Given the description of an element on the screen output the (x, y) to click on. 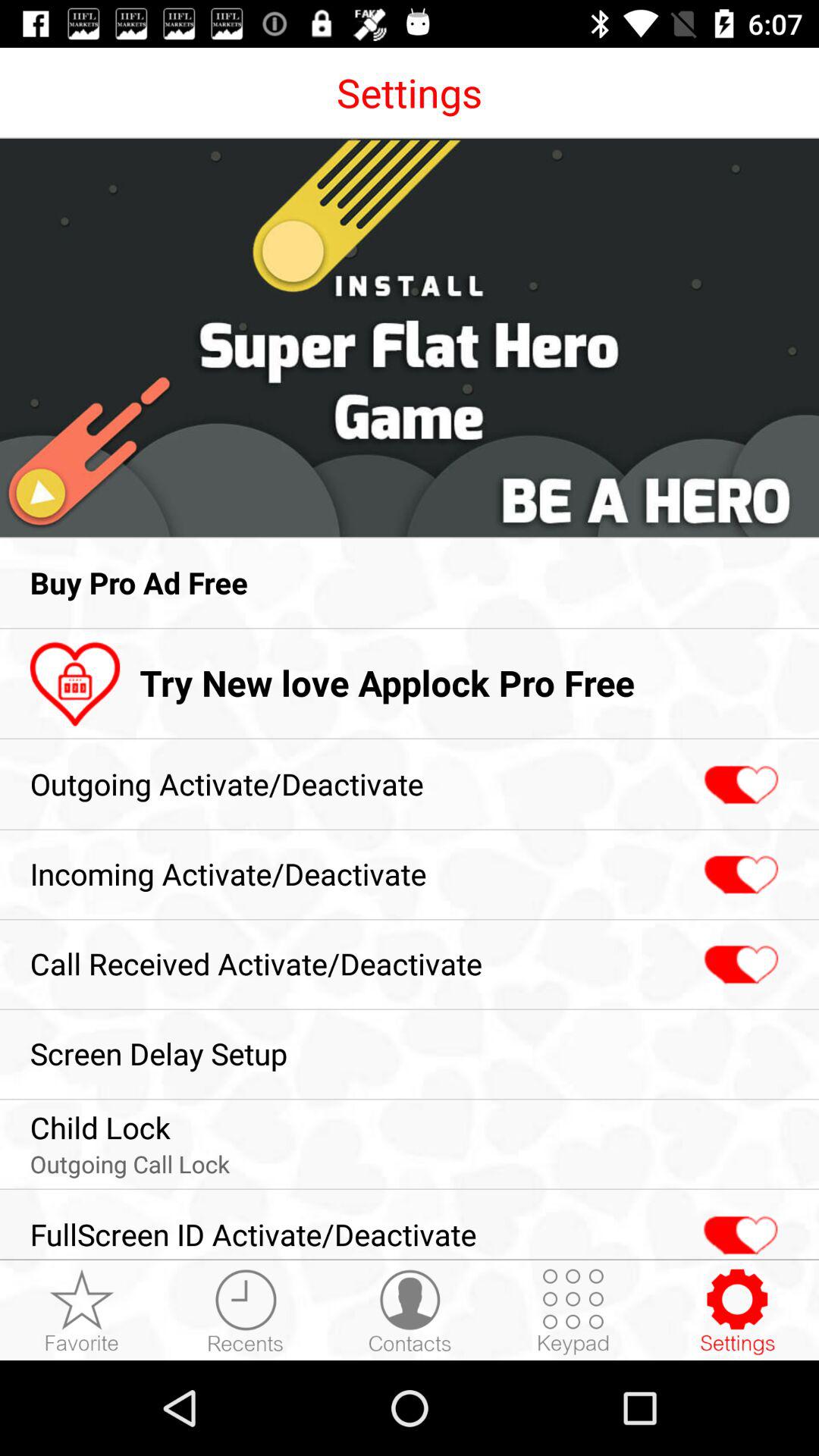
select the icon which is on the right side of call received activatedeactivate (739, 964)
click on the  favorite icon (81, 1311)
click the icon left side of keypad (409, 1311)
